Given the description of an element on the screen output the (x, y) to click on. 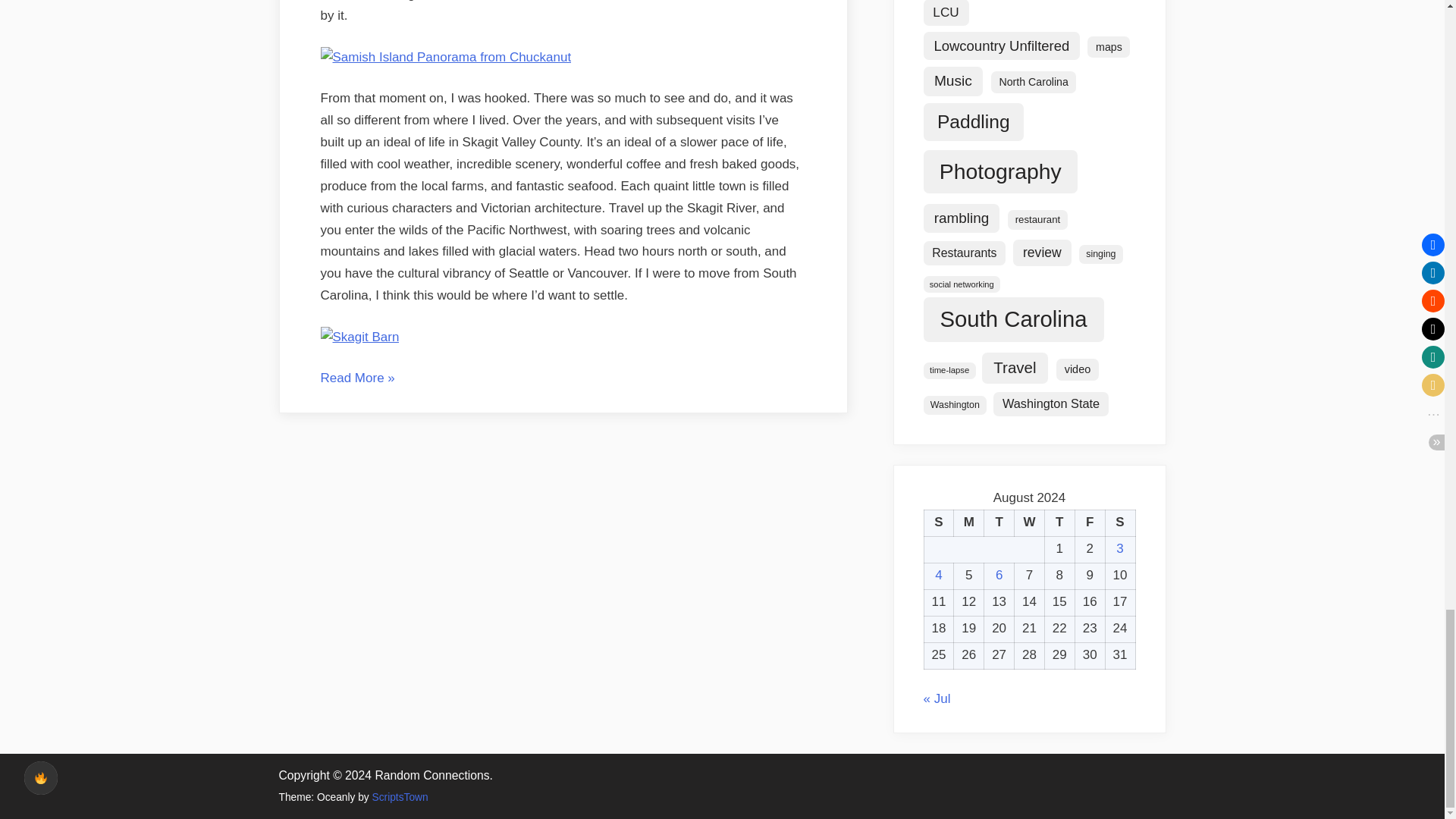
Saturday (1120, 522)
Monday (968, 522)
Friday (1089, 522)
Skagit Barn by RandomConnections, on Flickr (359, 336)
Wednesday (1029, 522)
Thursday (1058, 522)
Tuesday (999, 522)
Sunday (938, 522)
